Given the description of an element on the screen output the (x, y) to click on. 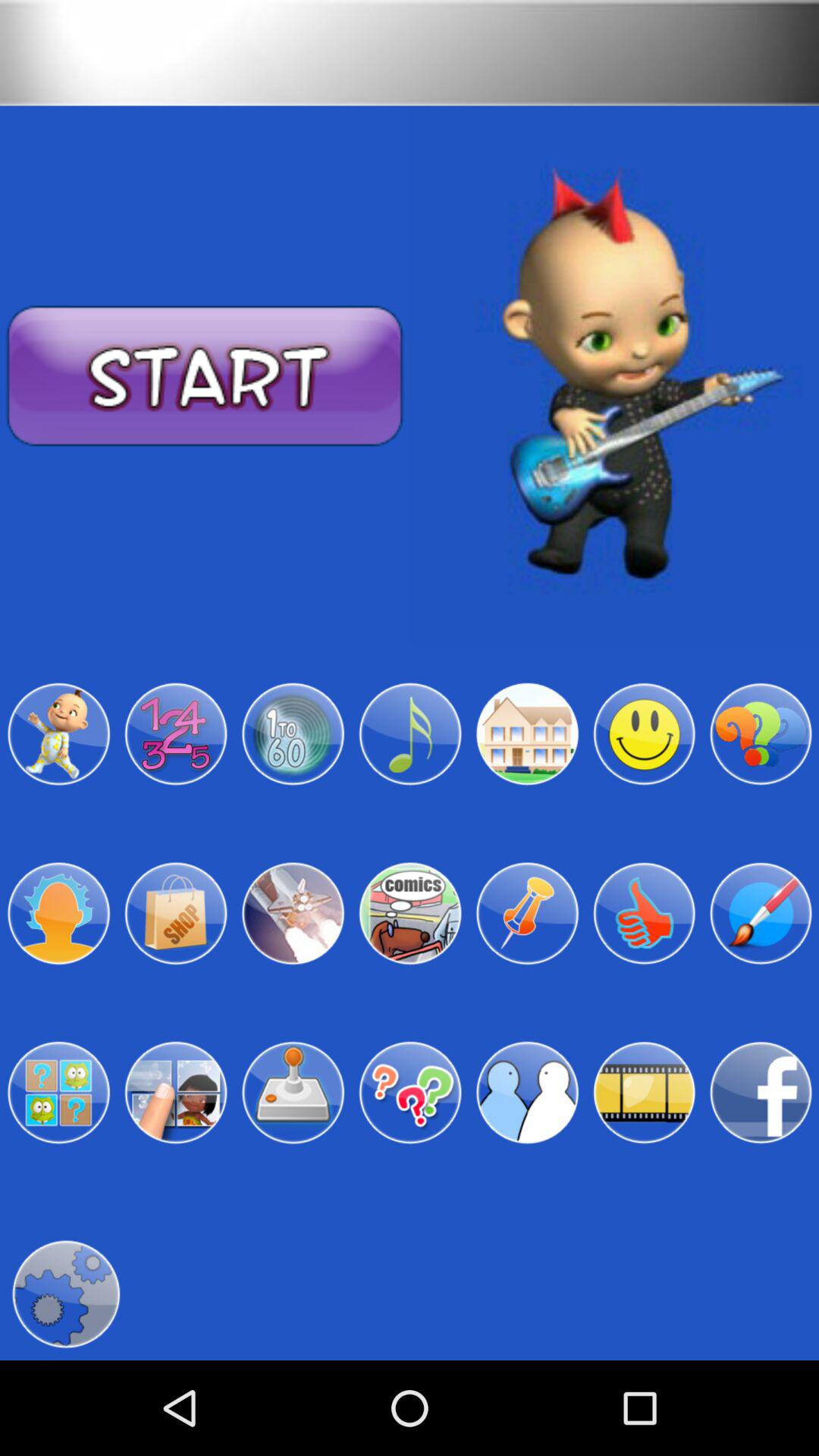
icon (292, 1092)
